Given the description of an element on the screen output the (x, y) to click on. 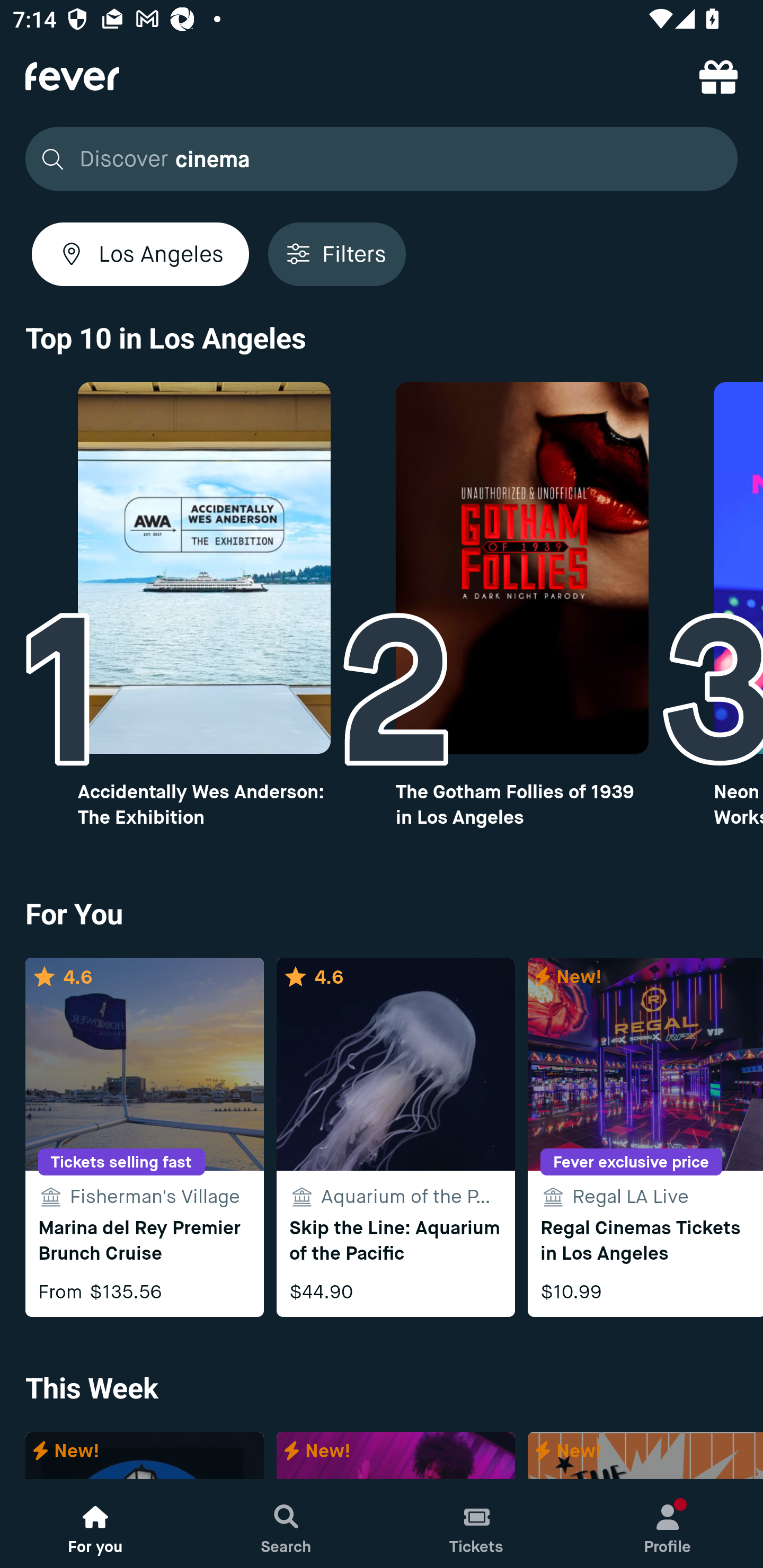
referral (718, 75)
Discover cinema (381, 158)
Discover cinema (376, 158)
Los Angeles (140, 253)
Filters (336, 253)
Top10 image (203, 568)
Top10 image (521, 568)
Search (285, 1523)
Tickets (476, 1523)
Profile, New notification Profile (667, 1523)
